Given the description of an element on the screen output the (x, y) to click on. 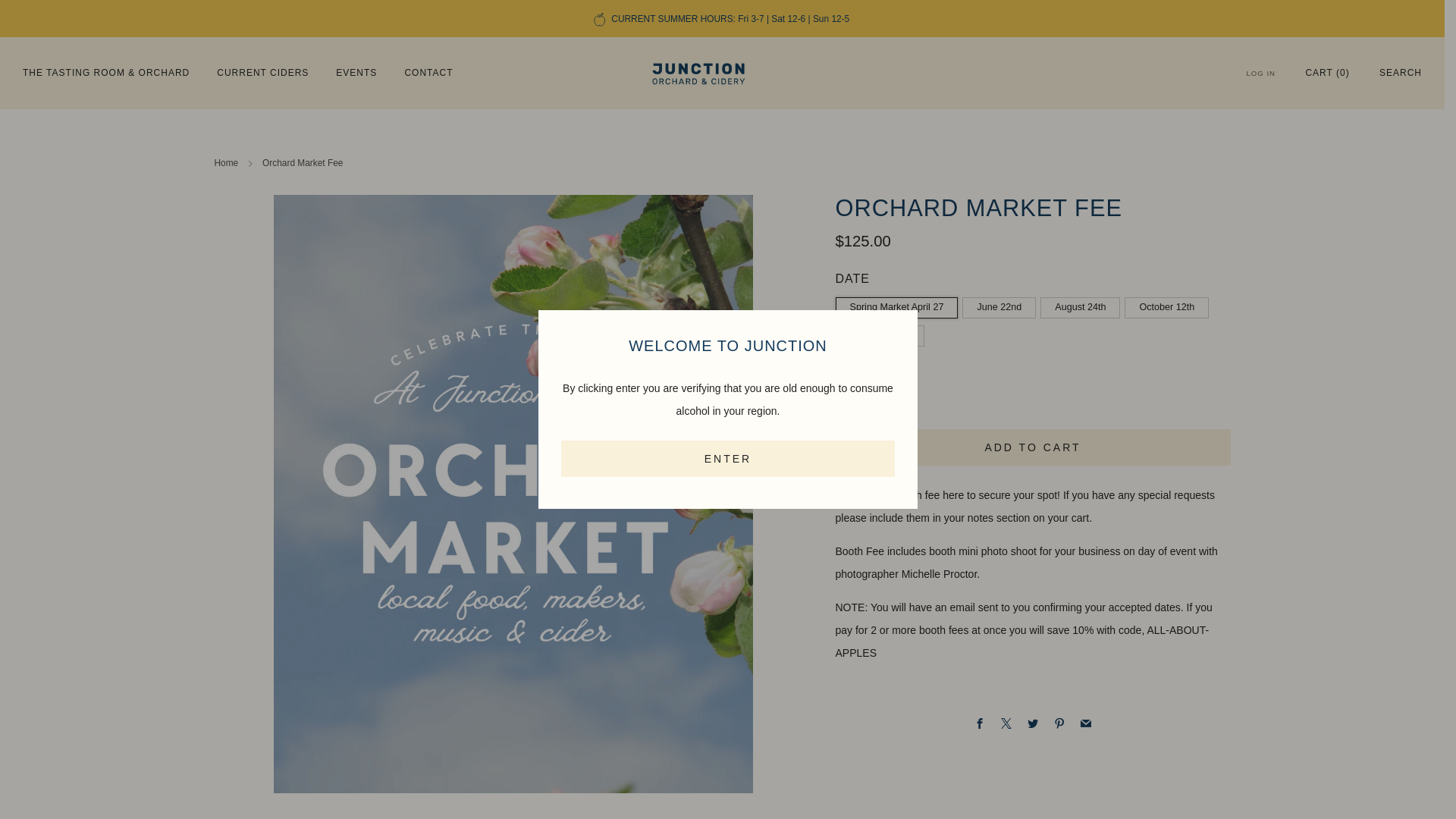
1 (870, 399)
ADD TO CART (1032, 447)
CURRENT CIDERS (262, 72)
EVENTS (356, 72)
Home (226, 163)
Twitter (1033, 723)
Home (226, 163)
CONTACT (428, 72)
LOG IN (1261, 72)
Facebook (980, 723)
Spring Market April 27 (898, 304)
June 22nd (1001, 304)
